Given the description of an element on the screen output the (x, y) to click on. 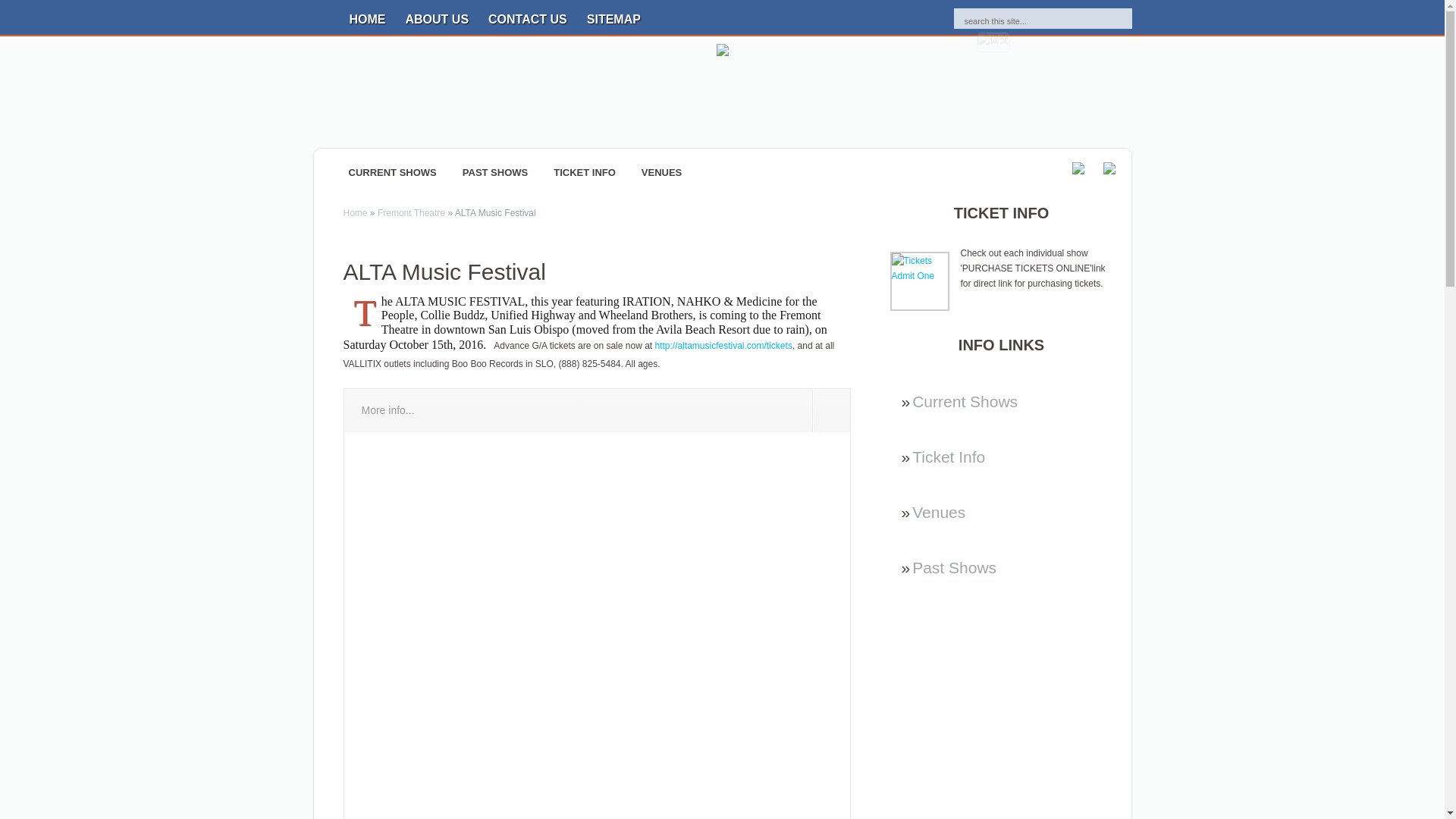
CONTACT US (527, 17)
Past Shows (953, 567)
Current Shows (964, 401)
Venues (938, 511)
PAST SHOWS (494, 172)
CURRENT SHOWS (392, 172)
TICKET INFO (584, 172)
VENUES (661, 172)
Home (354, 213)
HOME (366, 17)
